Given the description of an element on the screen output the (x, y) to click on. 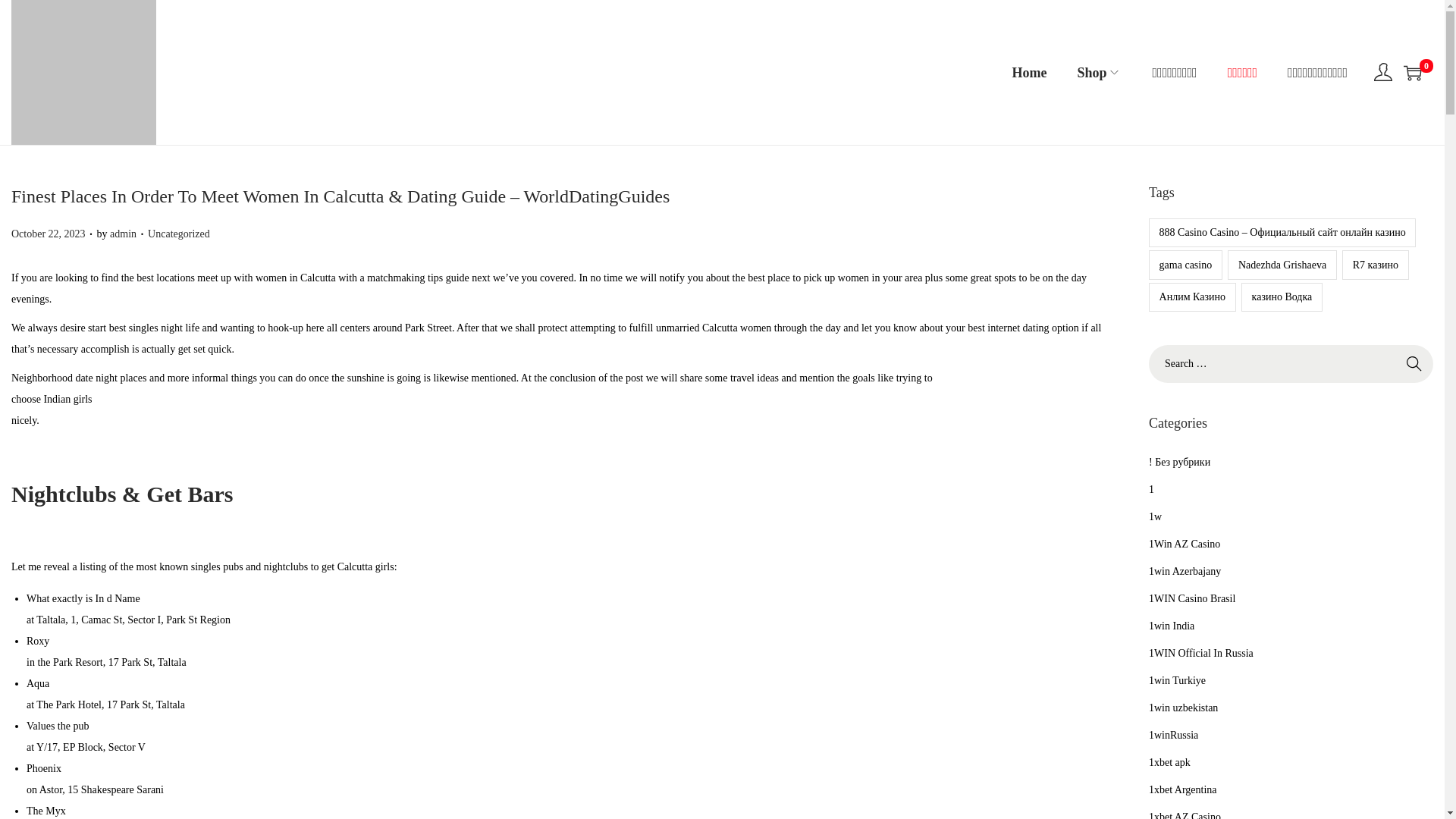
Uncategorized (178, 233)
Nadezhda Grishaeva (1281, 264)
gama casino (1185, 264)
October 22, 2023 (48, 233)
admin (123, 233)
0 (1412, 72)
Search (1413, 363)
Search (1413, 363)
Search (1413, 363)
